Given the description of an element on the screen output the (x, y) to click on. 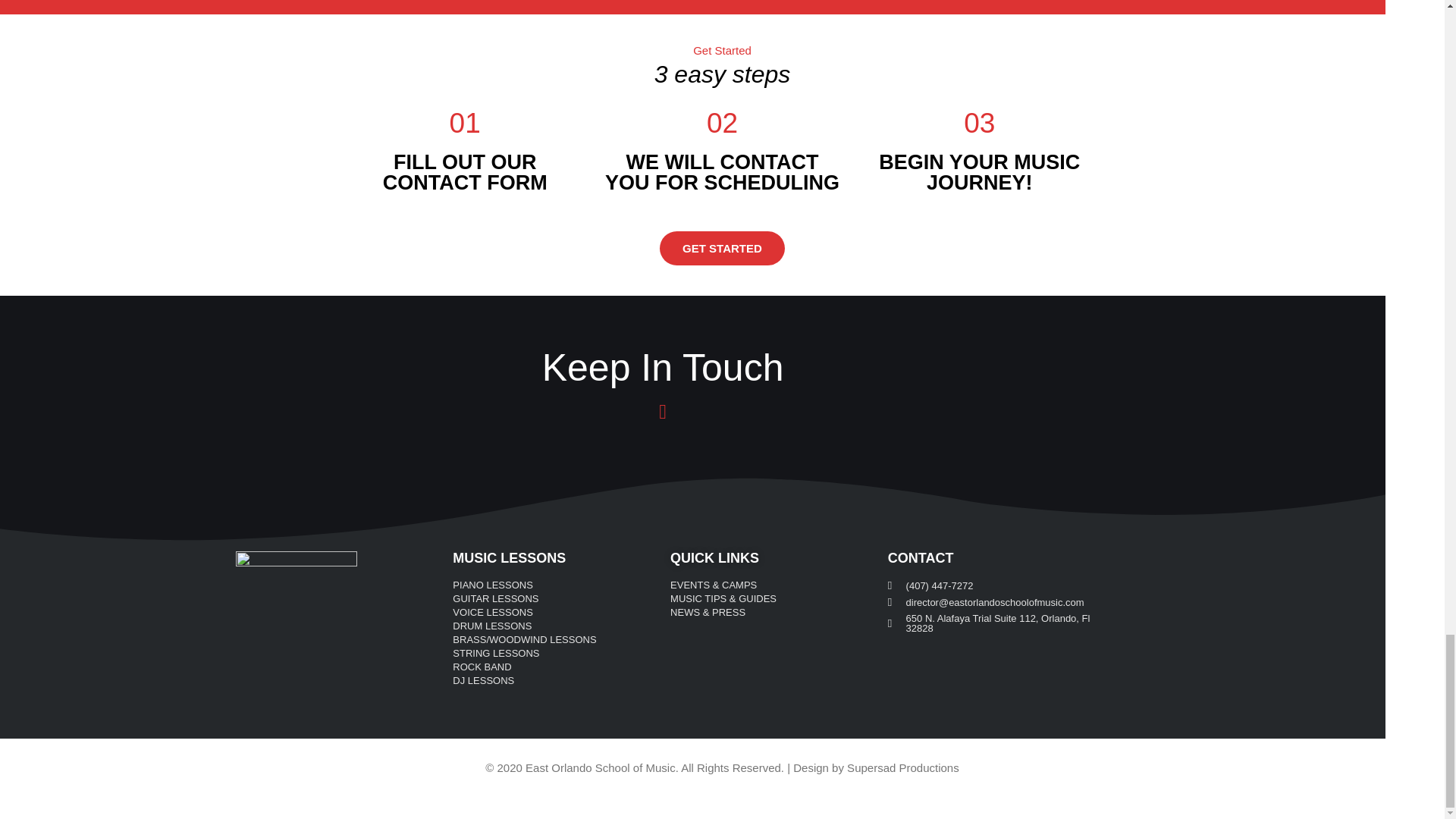
GET STARTED (721, 247)
